Given the description of an element on the screen output the (x, y) to click on. 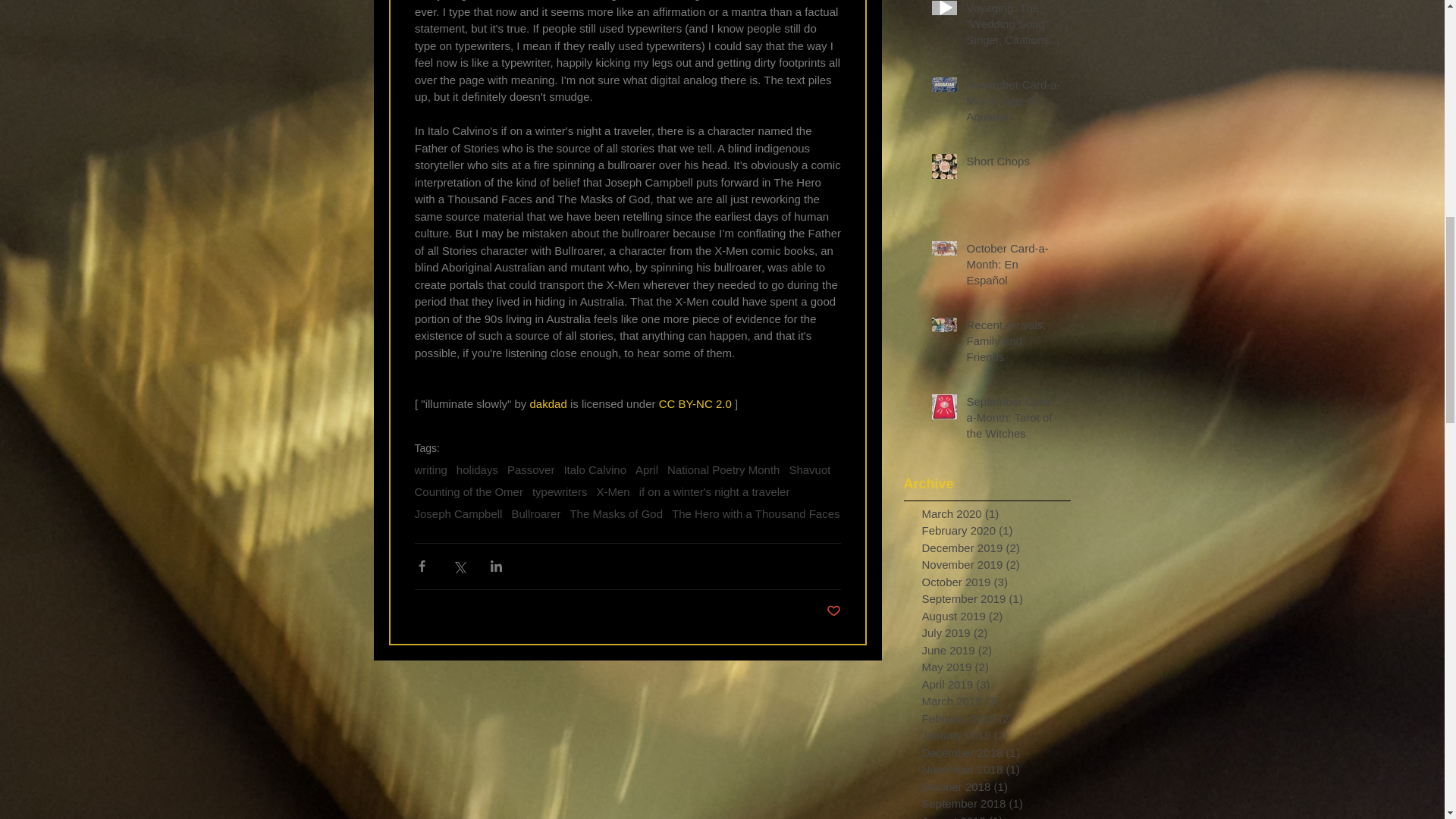
National Poetry Month (722, 469)
Italo Calvino (594, 469)
Joseph Campbell (457, 513)
The Masks of God (615, 513)
writing (429, 469)
Bullroarer (535, 513)
dakdad (547, 403)
The Hero with a Thousand Faces (755, 513)
Shavuot (809, 469)
Passover (530, 469)
typewriters (560, 491)
CC BY-NC 2.0 (694, 403)
holidays (477, 469)
Counting of the Omer (467, 491)
if on a winter's night a traveler (714, 491)
